Given the description of an element on the screen output the (x, y) to click on. 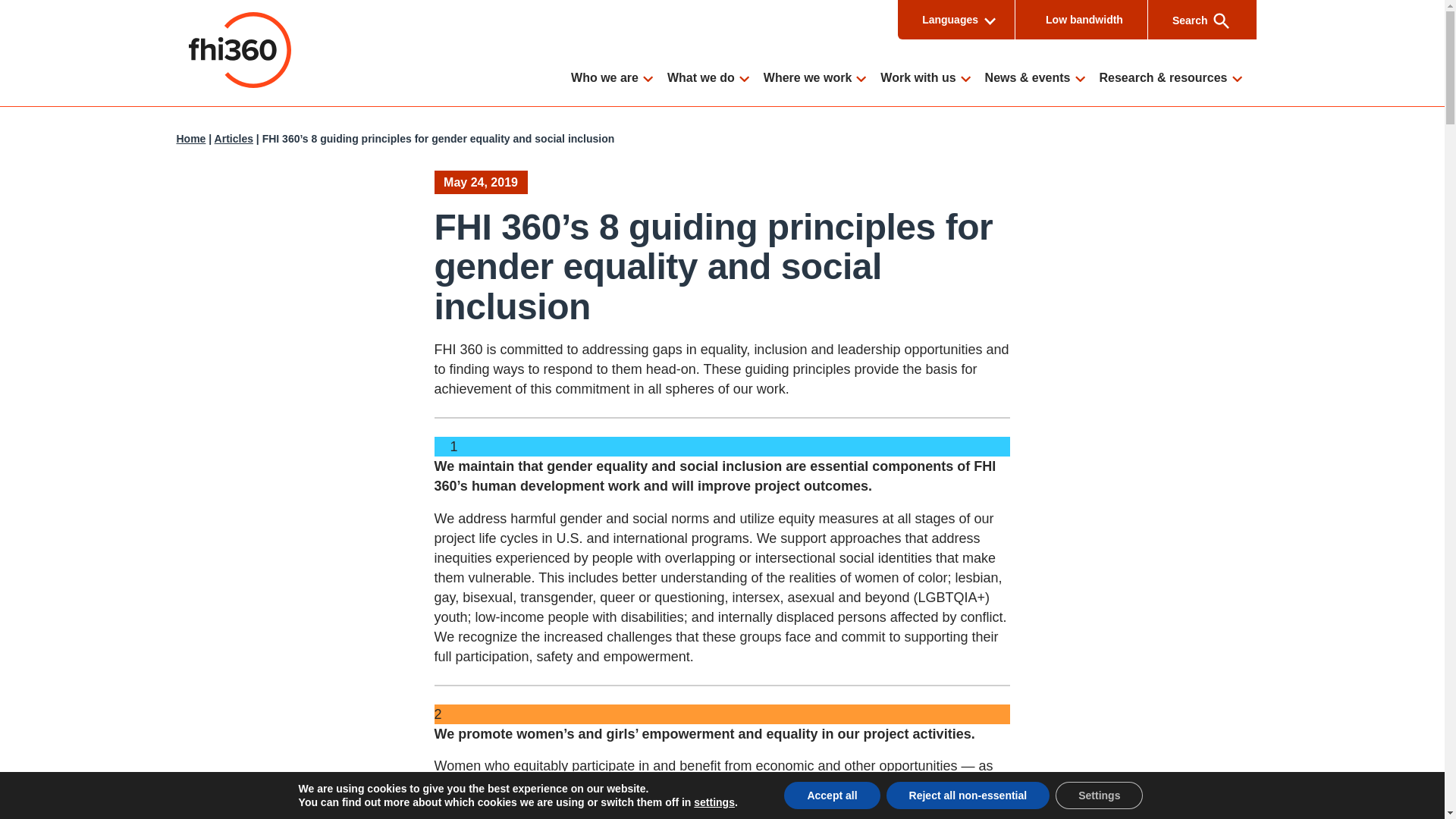
Who we are (615, 79)
What we do (711, 79)
Search (1192, 19)
